Given the description of an element on the screen output the (x, y) to click on. 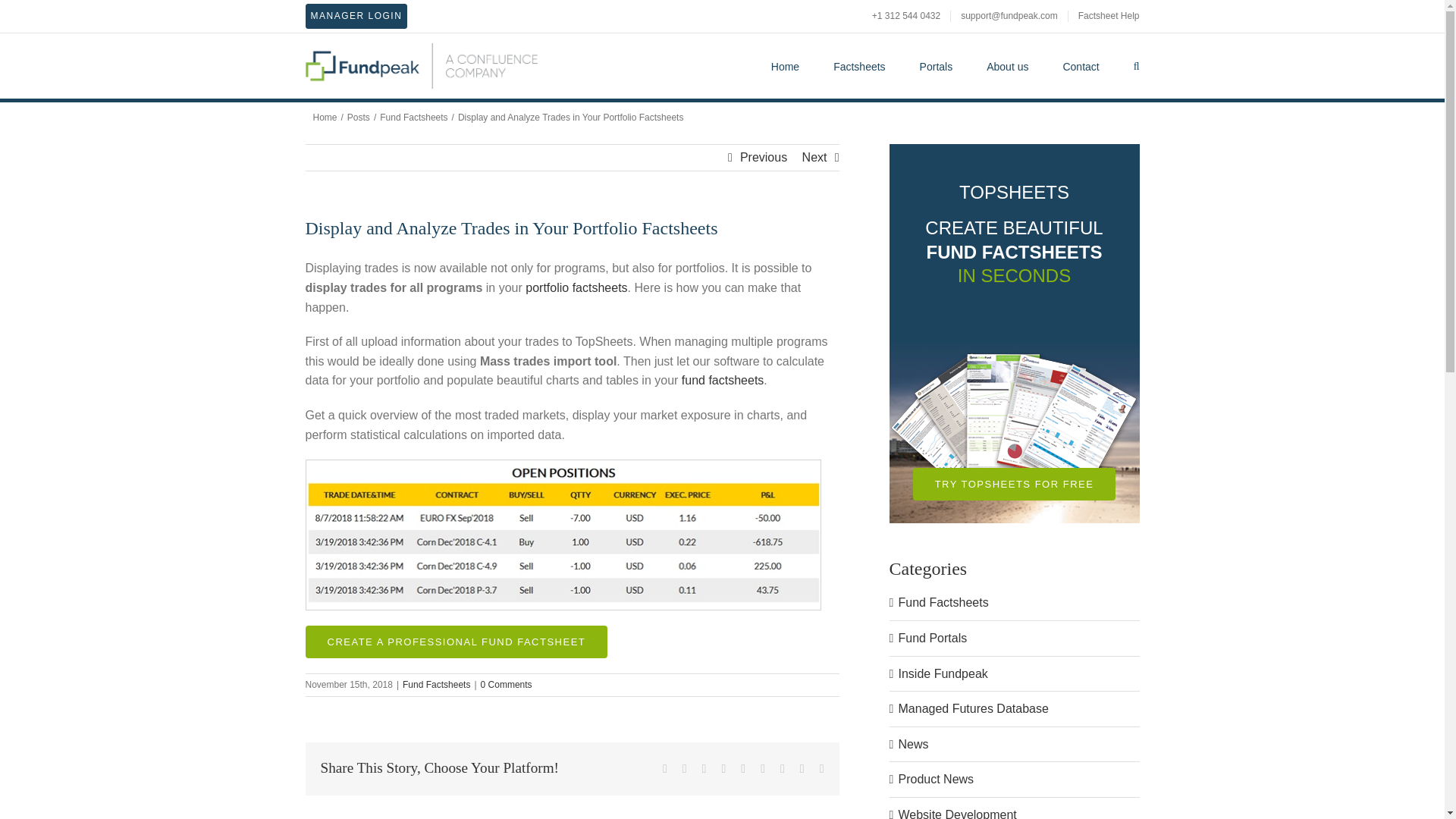
portfolio factsheets (576, 287)
Fund factsheet production administration (355, 16)
fund factsheets (722, 379)
Previous (763, 157)
MANAGER LOGIN (355, 16)
0 Comments (506, 684)
Next (814, 157)
Fund Factsheets (436, 684)
Posts (358, 117)
Factsheet Help (1104, 16)
